Given the description of an element on the screen output the (x, y) to click on. 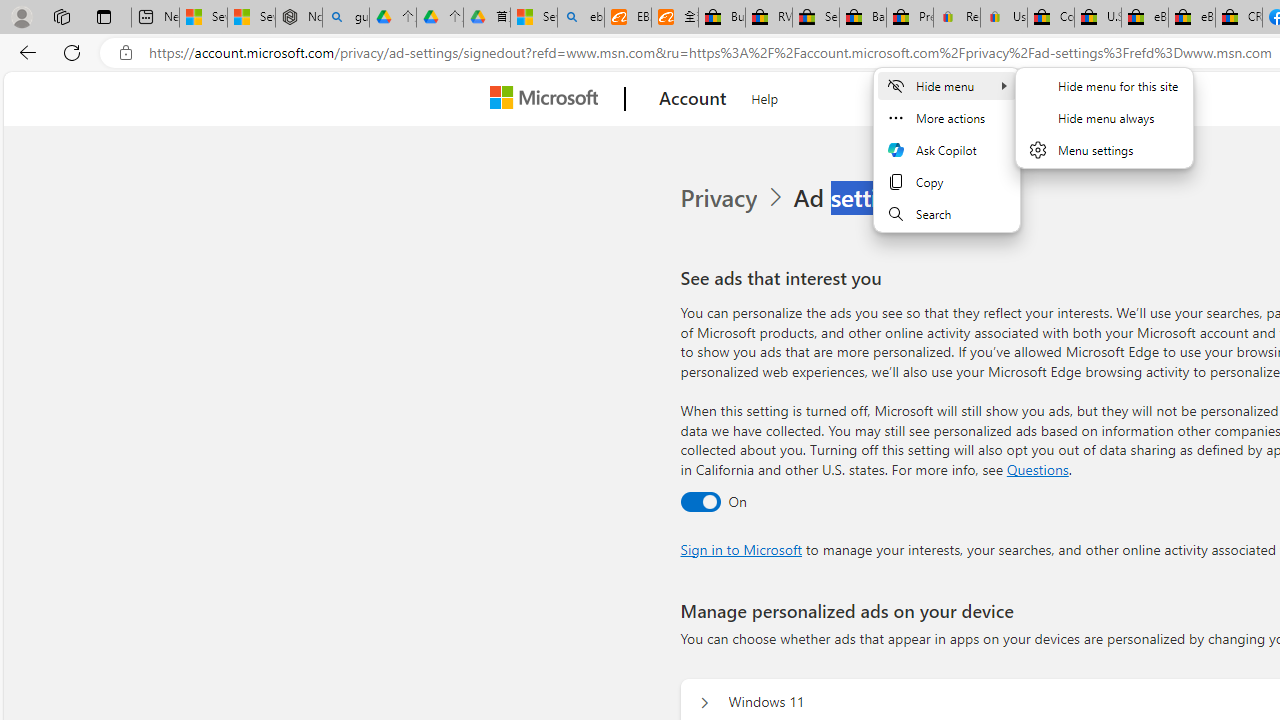
Hide menu (1104, 117)
Personal Profile (21, 16)
ebay - Search (581, 17)
